Given the description of an element on the screen output the (x, y) to click on. 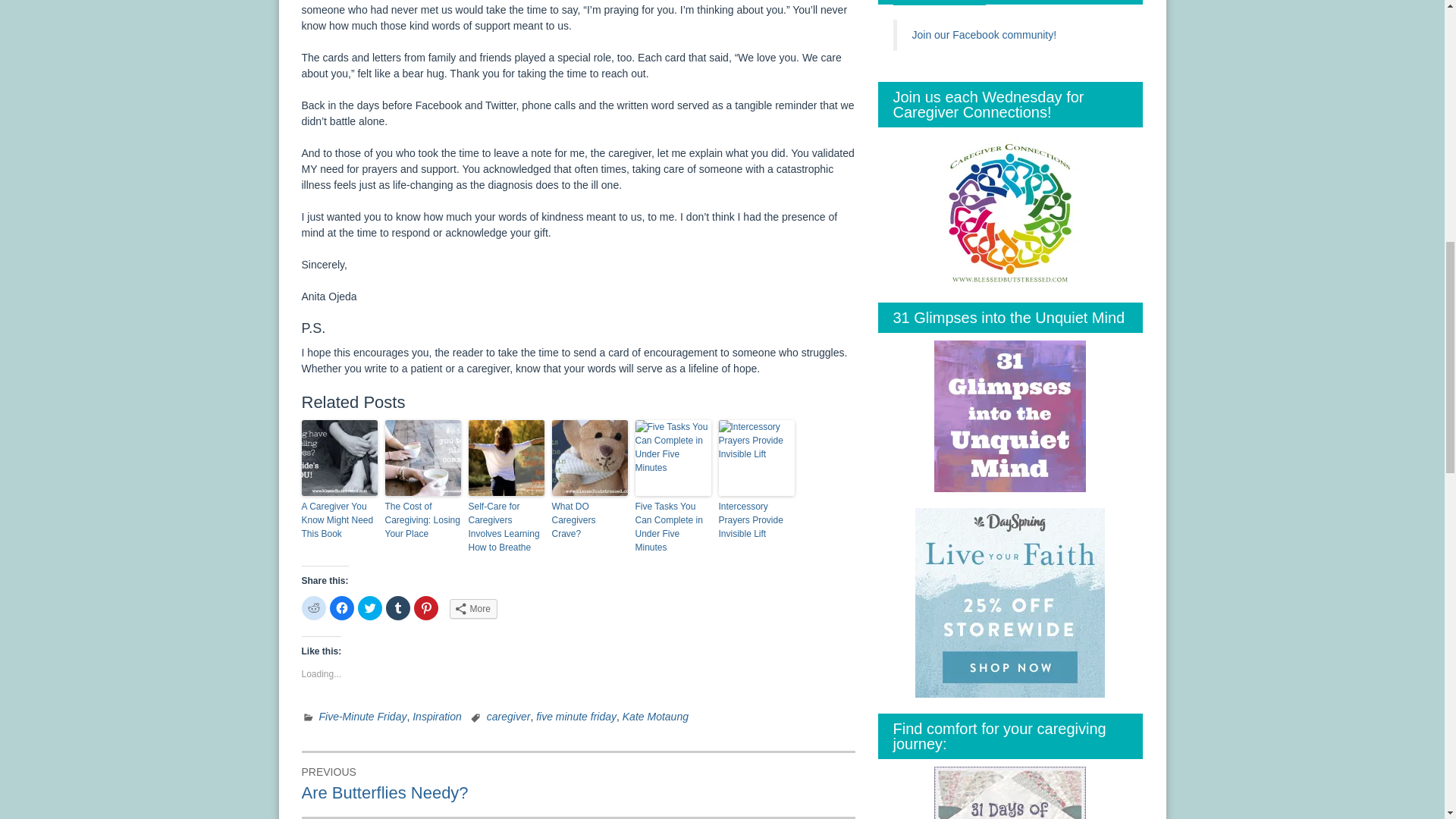
What DO Caregivers Crave? (589, 519)
Five Tasks You Can Complete in Under Five Minutes (672, 526)
Intercessory Prayers Provide Invisible Lift (756, 519)
Click to share on Pinterest (425, 607)
The Cost of Caregiving: Losing Your Place (423, 519)
Self-Care for Caregivers Involves Learning How to Breathe (506, 526)
Click to share on Facebook (341, 607)
Click to share on Reddit (313, 607)
A Caregiver You Know Might Need This Book (339, 519)
Click to share on Tumblr (397, 607)
